Given the description of an element on the screen output the (x, y) to click on. 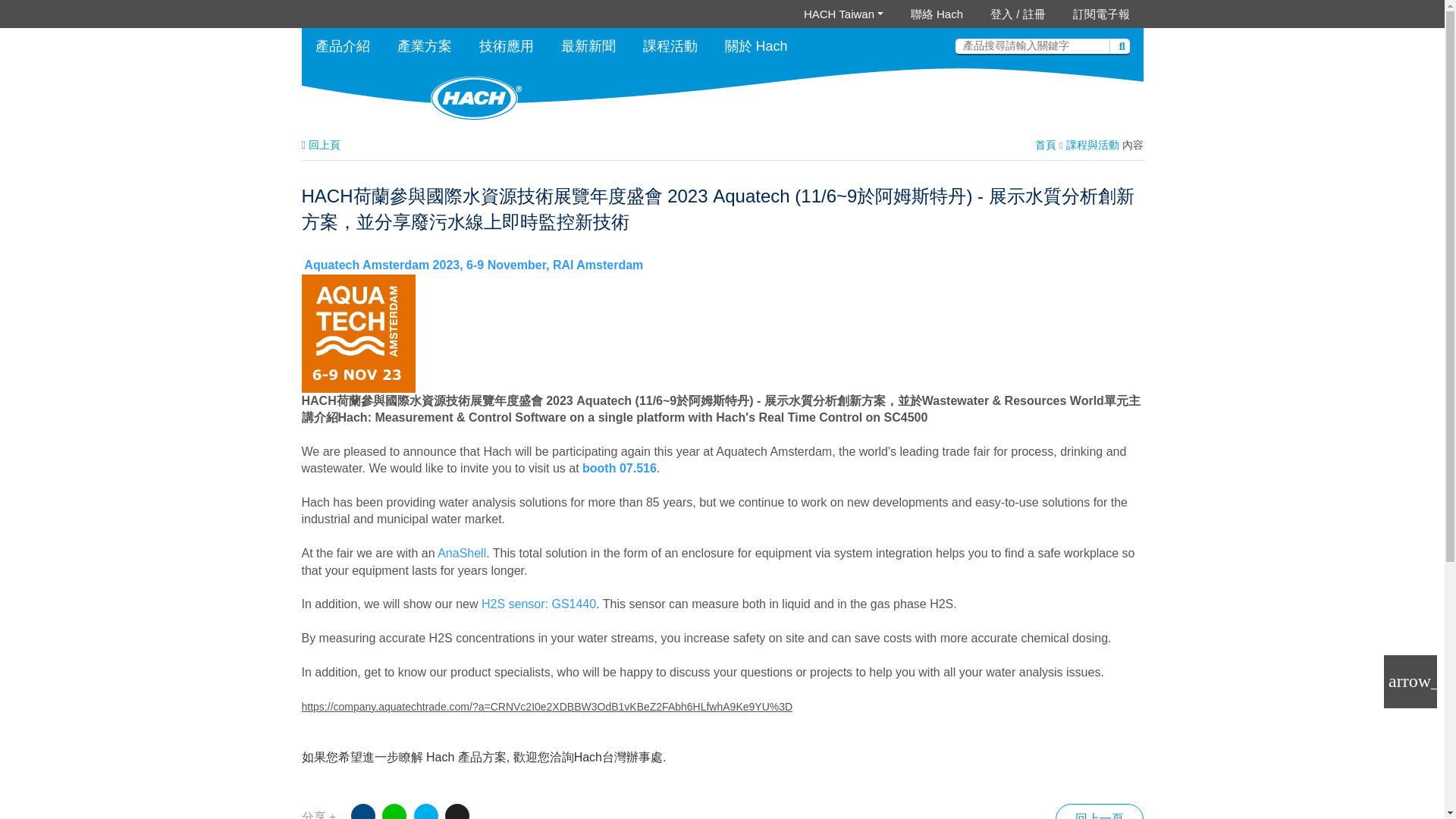
HACH Taiwan (843, 13)
